Given the description of an element on the screen output the (x, y) to click on. 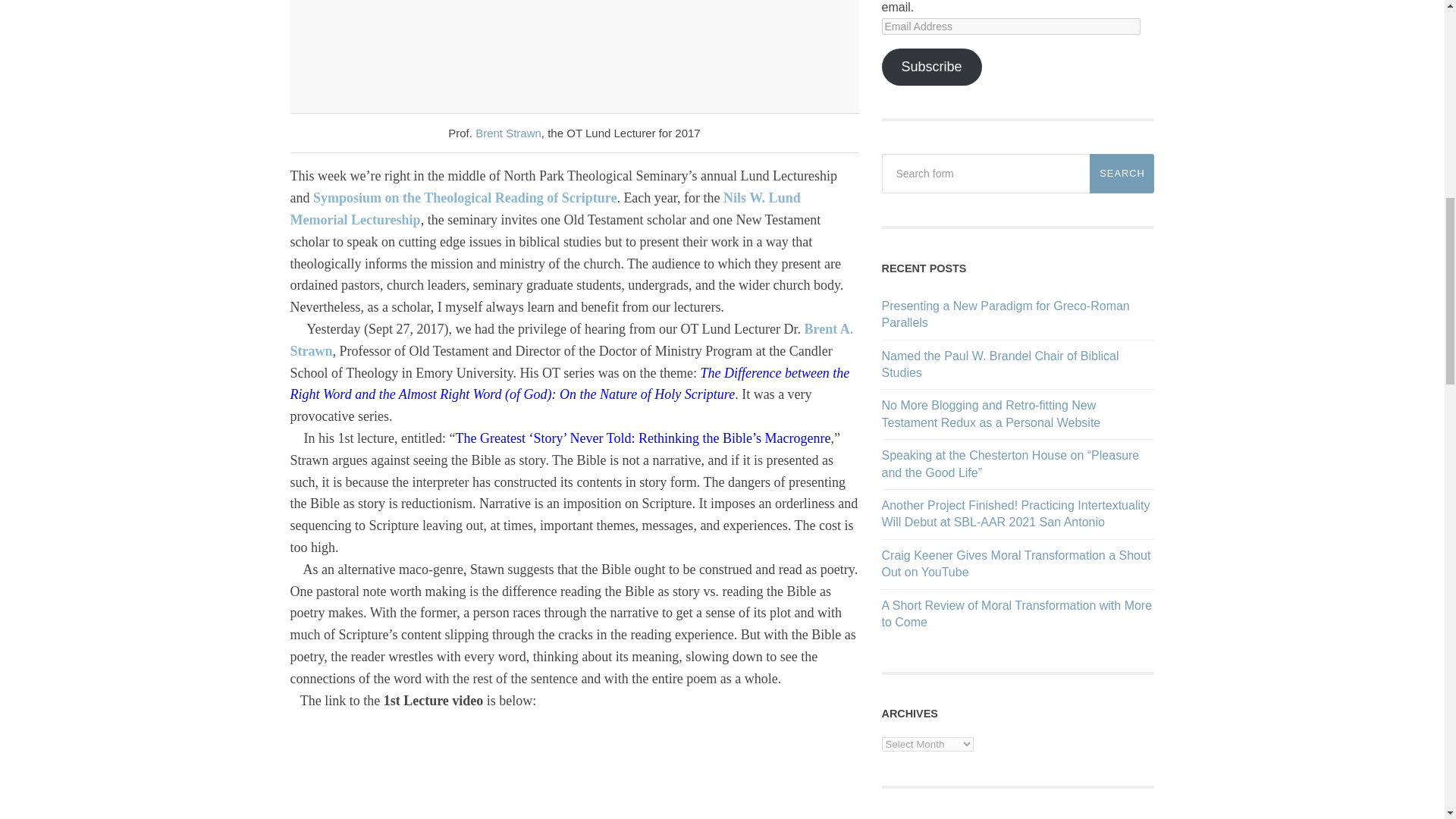
Search (1121, 173)
Brent A. Strawn (571, 339)
Nils W. Lund Memorial Lectureship (544, 208)
Symposium on the Theological Reading of Scripture (464, 197)
Brent Strawn (508, 132)
